Given the description of an element on the screen output the (x, y) to click on. 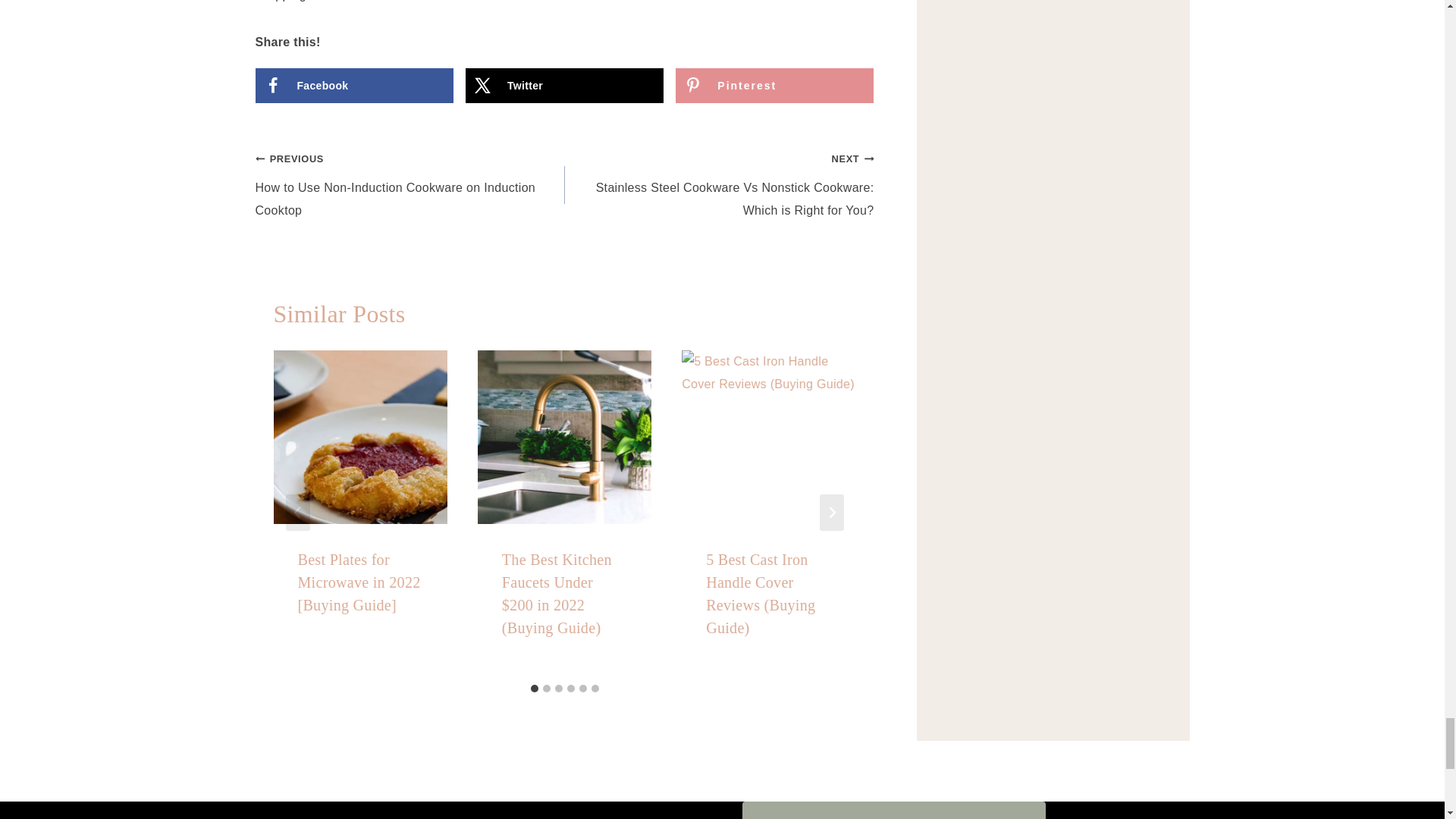
Share on X (564, 85)
Save to Pinterest (774, 85)
Share on Facebook (353, 85)
